Given the description of an element on the screen output the (x, y) to click on. 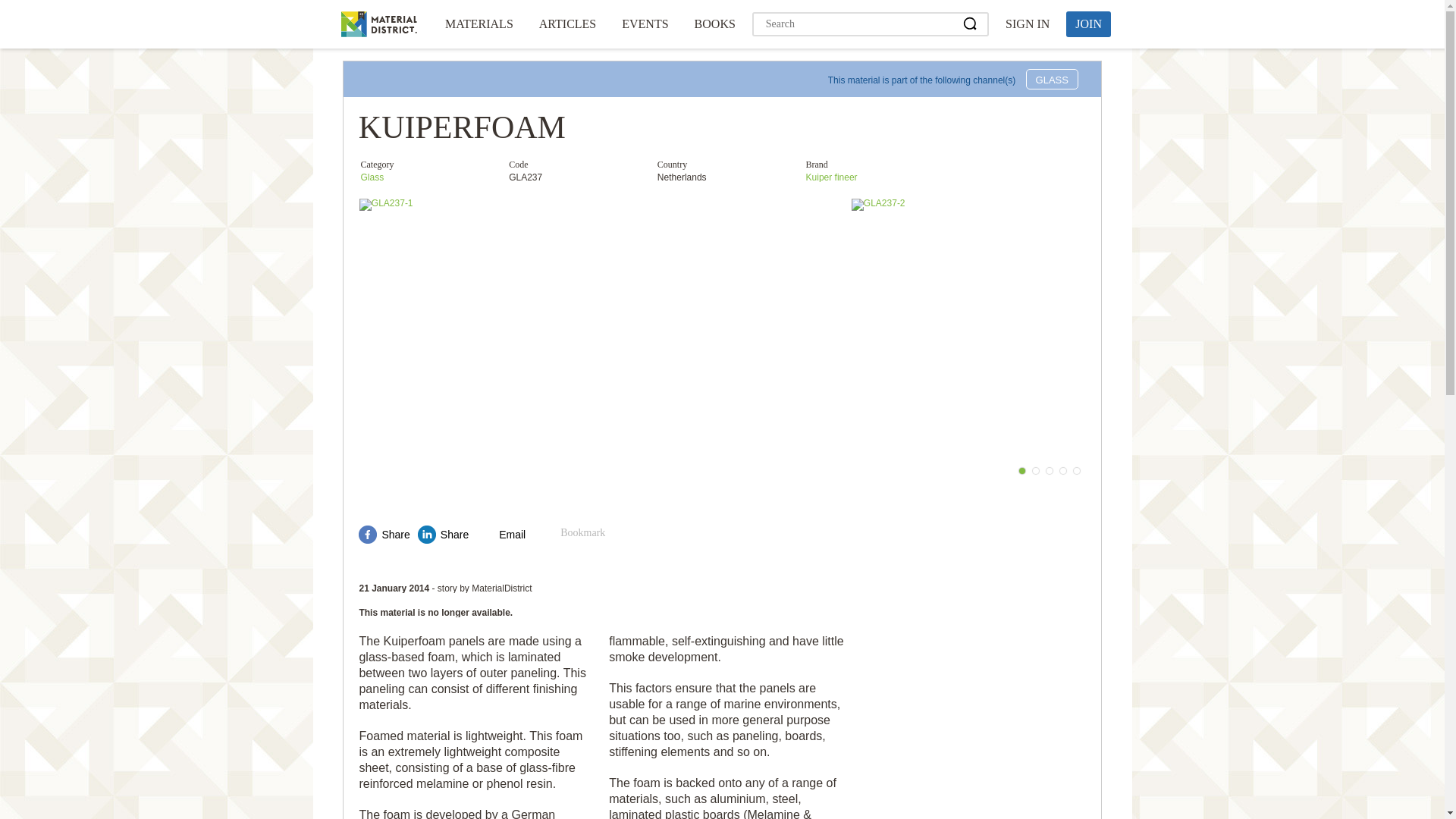
JOIN (1087, 23)
Share (383, 534)
MATERIALDISTRICT (378, 23)
Kuiper fineer (831, 176)
Search (970, 24)
ARTICLES (567, 23)
SIGN IN (1026, 23)
EVENTS (644, 23)
Bookmark (572, 534)
MaterialDistrict (378, 23)
MATERIALS (478, 23)
Stuur deze pagina per email (500, 534)
Glass (371, 176)
Share (442, 534)
GLASS (1052, 78)
